Given the description of an element on the screen output the (x, y) to click on. 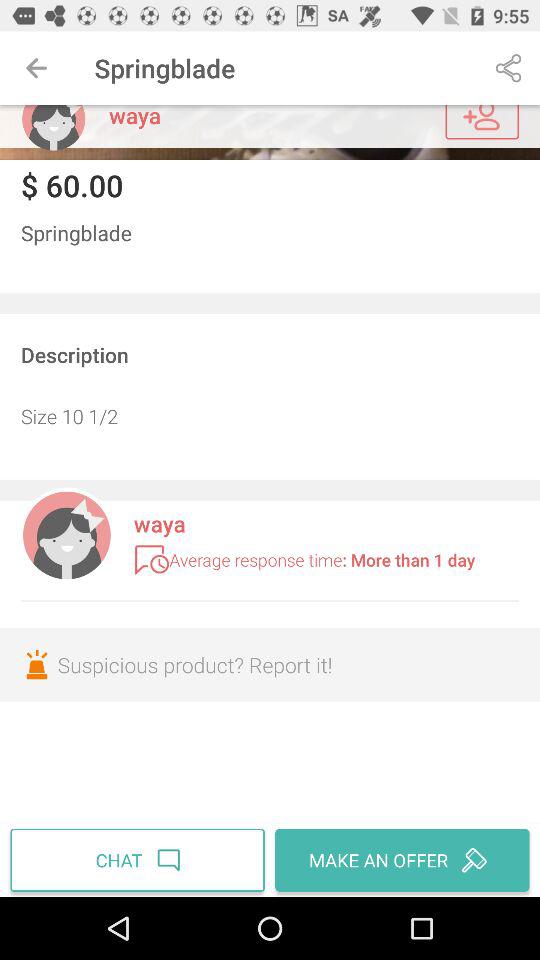
select the suspicious product report icon (270, 664)
